Given the description of an element on the screen output the (x, y) to click on. 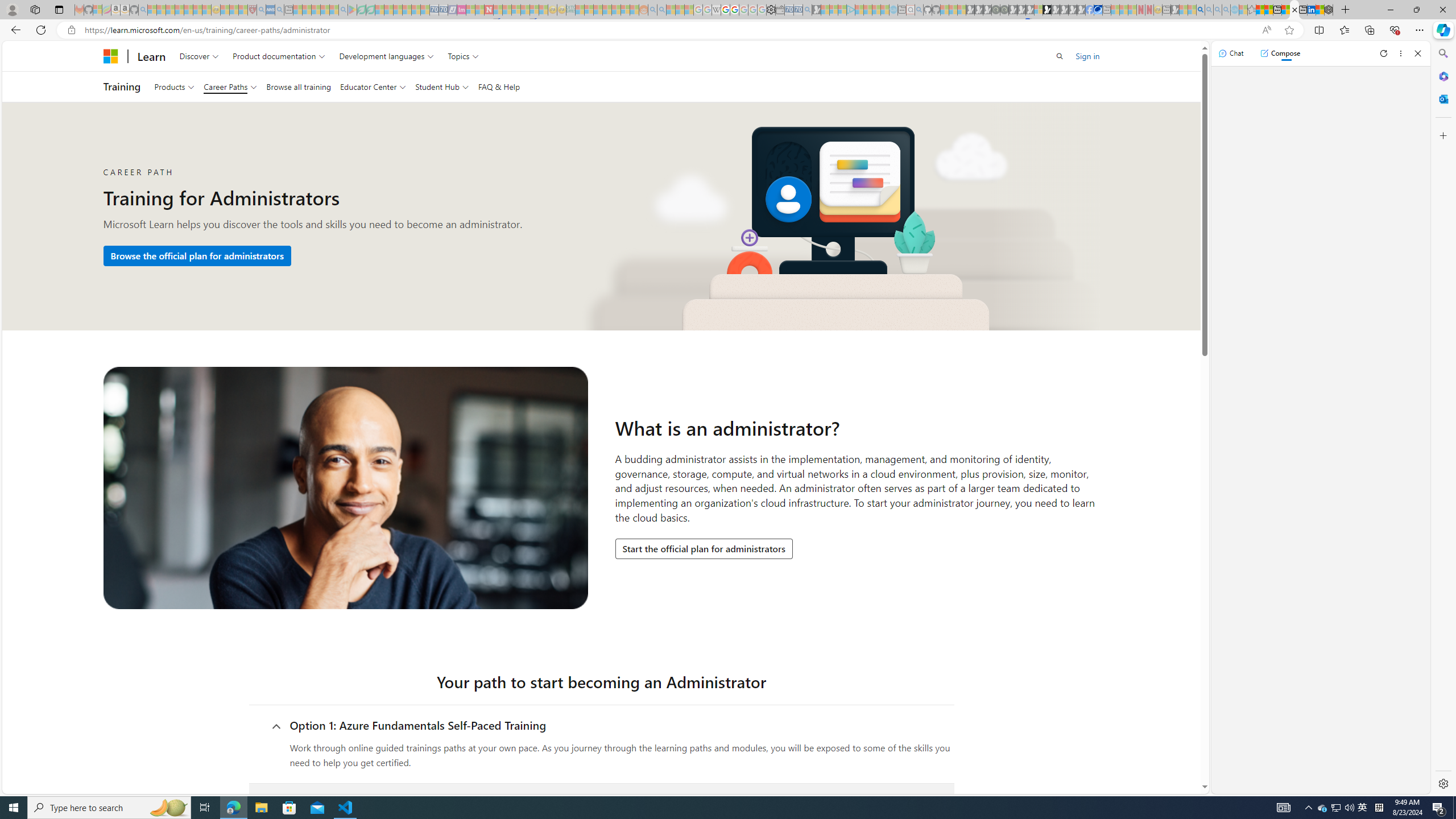
Terms of Use Agreement - Sleeping (361, 9)
Microsoft Start - Sleeping (876, 9)
MSNBC - MSN - Sleeping (579, 9)
Cheap Car Rentals - Save70.com - Sleeping (798, 9)
Start the official plan for administrators (703, 548)
github - Search - Sleeping (919, 9)
Development languages (386, 55)
DITOGAMES AG Imprint - Sleeping (570, 9)
Topics (462, 55)
